Given the description of an element on the screen output the (x, y) to click on. 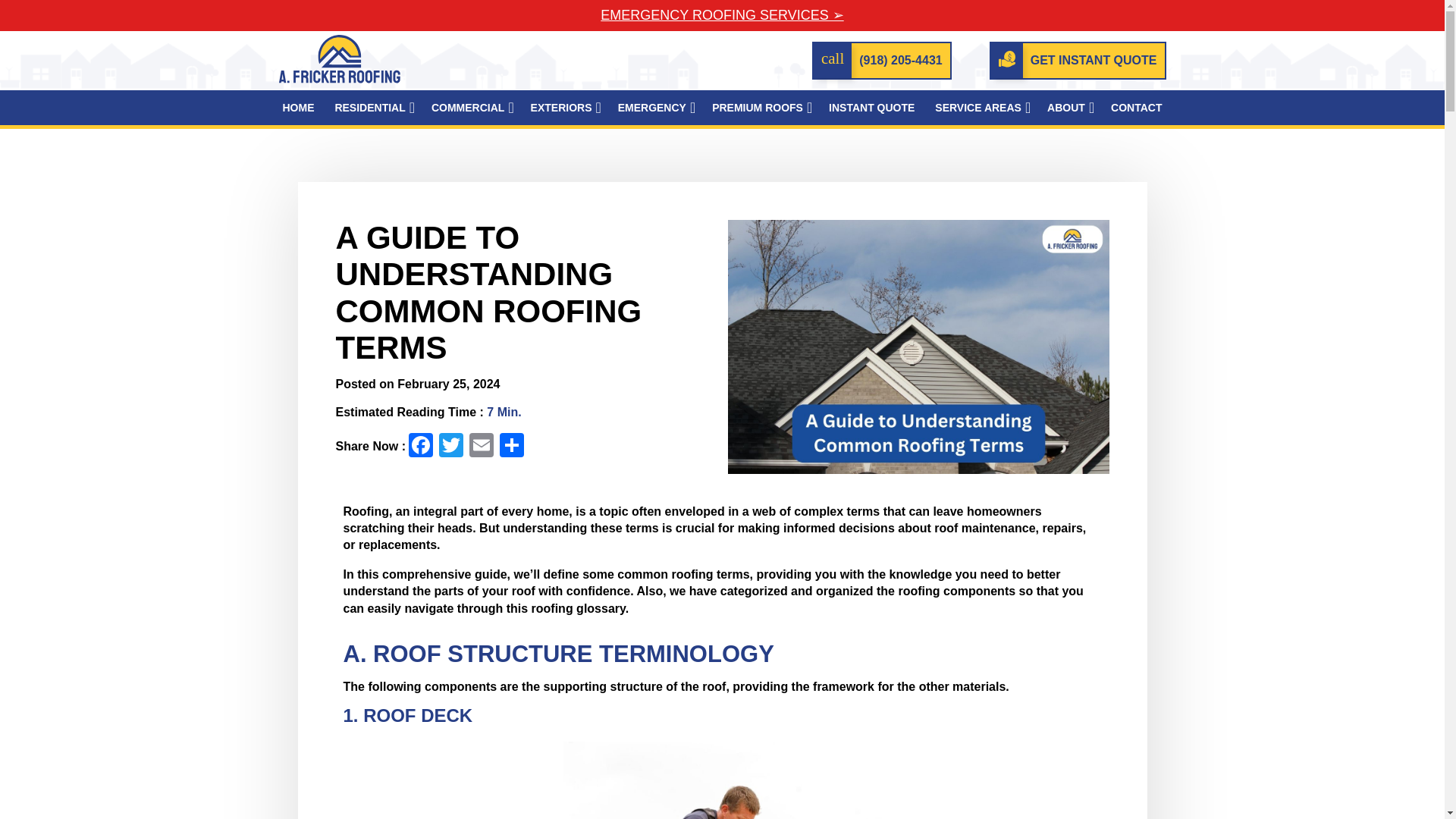
RESIDENTIAL (369, 107)
Facebook (420, 447)
Twitter (450, 447)
Roofing Terms (721, 780)
EXTERIORS (561, 107)
GET INSTANT QUOTE (1078, 60)
Email (480, 447)
COMMERCIAL (468, 107)
EMERGENCY (652, 107)
HOME (298, 107)
